Given the description of an element on the screen output the (x, y) to click on. 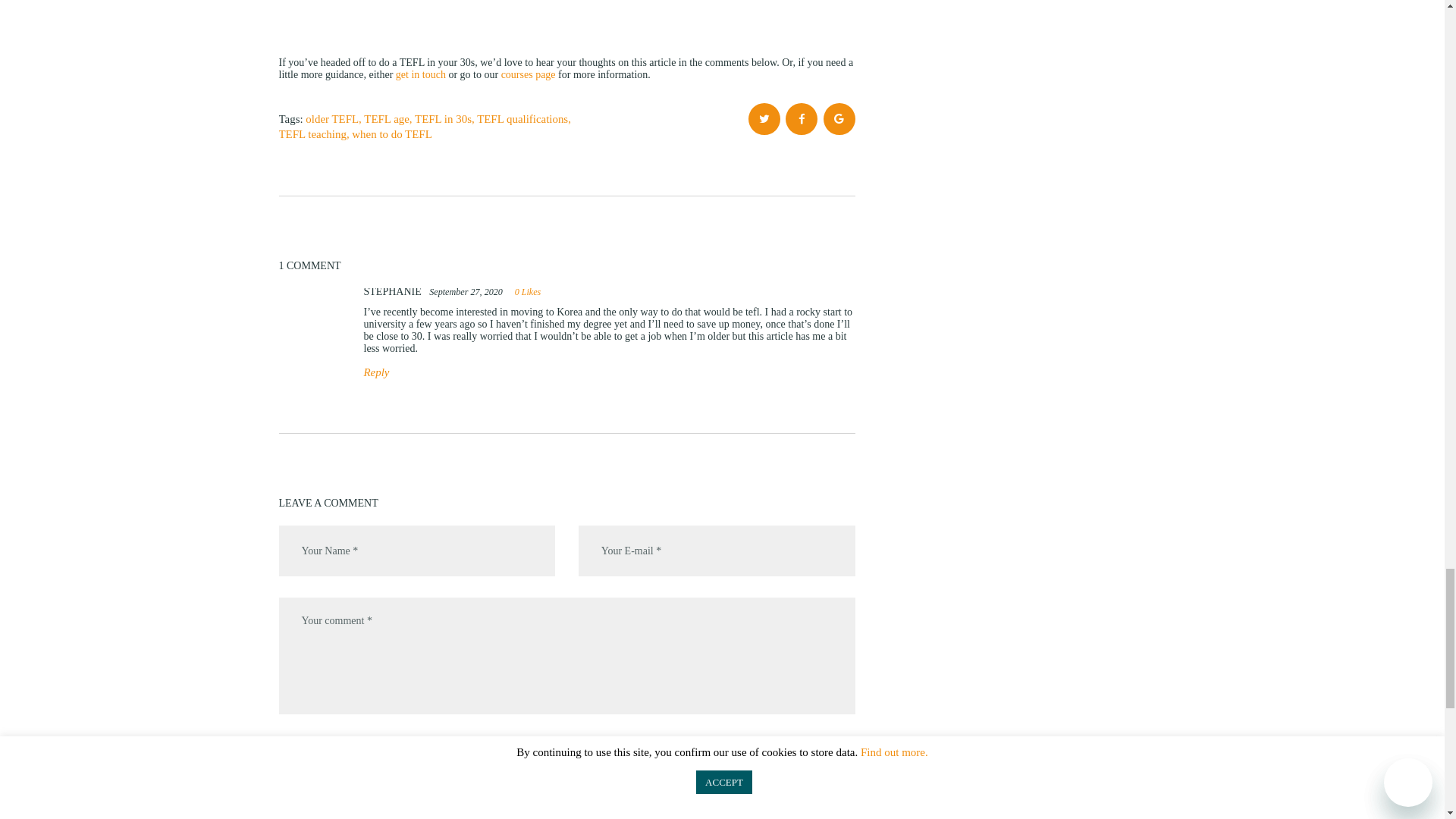
Like (526, 291)
